Given the description of an element on the screen output the (x, y) to click on. 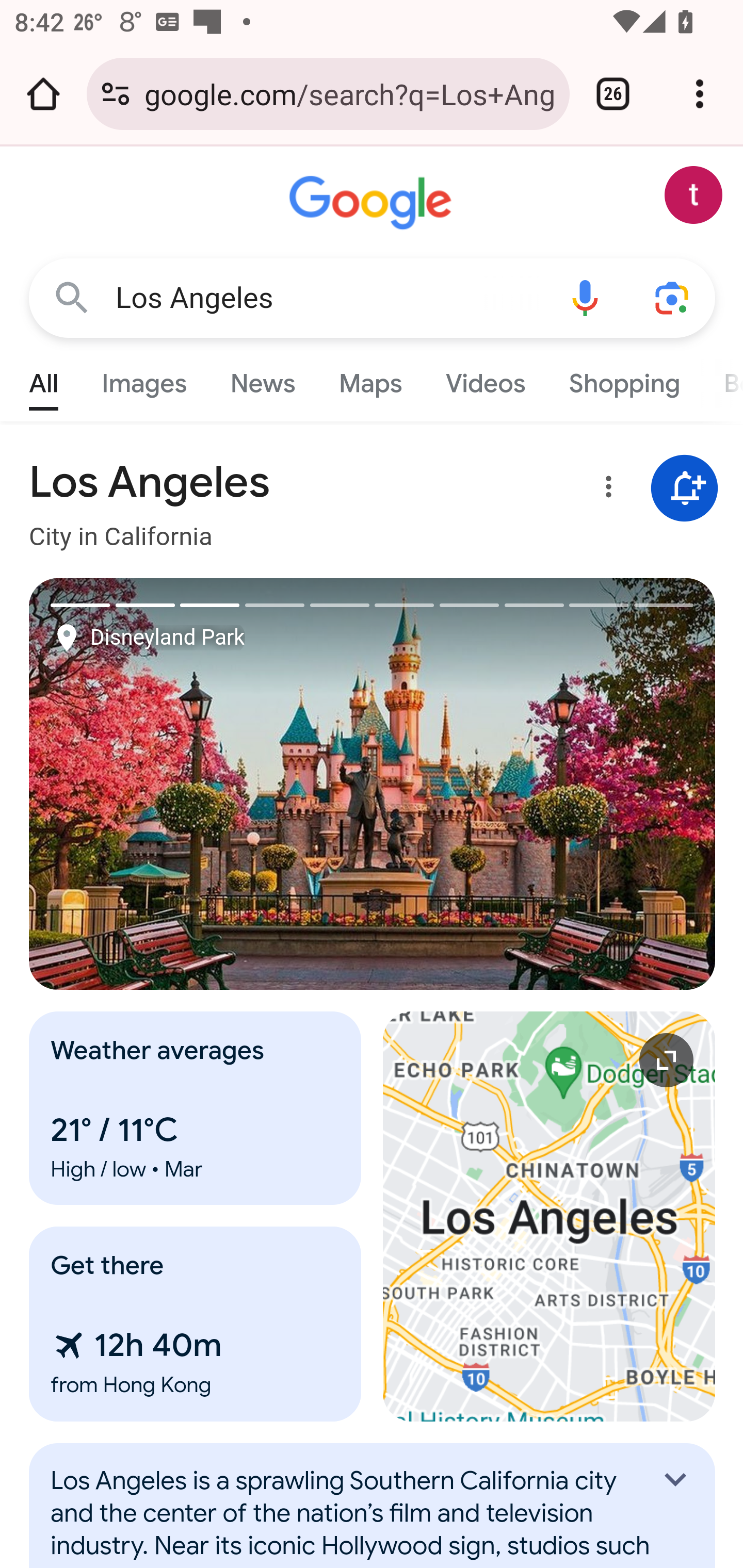
Open the home page (43, 93)
Connection is secure (115, 93)
Switch or close tabs (612, 93)
Customize and control Google Chrome (699, 93)
Google (372, 203)
Google Search (71, 296)
Search using your camera or photos (672, 296)
Los Angeles (328, 297)
Images (144, 378)
News (262, 378)
Maps (369, 378)
Videos (485, 378)
Shopping (623, 378)
Get notifications about Los Angeles (684, 489)
More options (605, 489)
Previous image (200, 783)
Next image (544, 783)
Weather averages 21° / 11°C High / low • Mar (195, 1108)
Expand map (549, 1216)
